Given the description of an element on the screen output the (x, y) to click on. 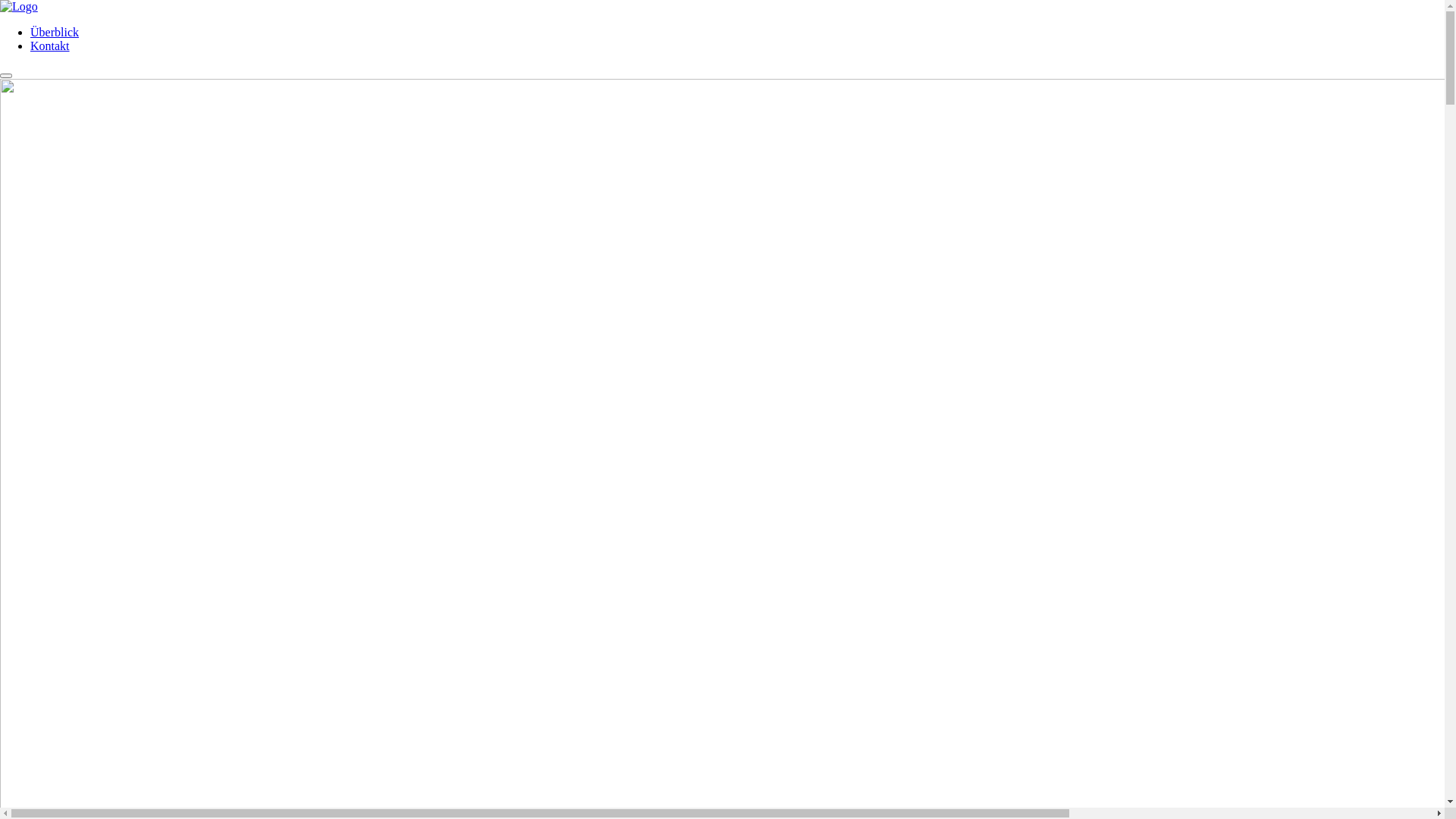
Kontakt Element type: text (49, 45)
